Given the description of an element on the screen output the (x, y) to click on. 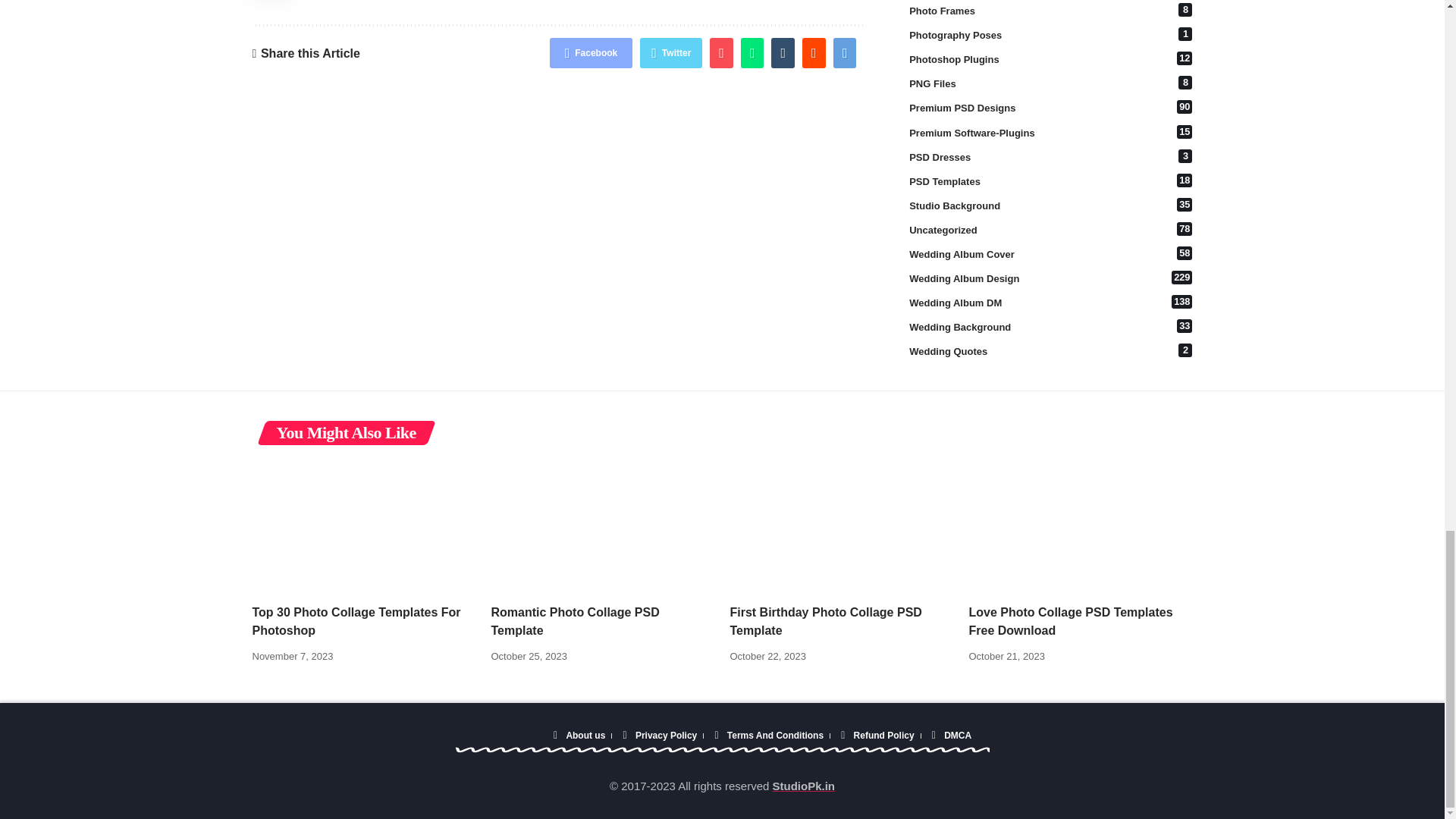
First Birthday Photo Collage PSD Template (841, 527)
Top 30 Photo Collage Templates For Photoshop (363, 527)
Love Photo Collage PSD Templates Free Download (1080, 527)
DMCA.com Protection Status (510, 735)
Romantic Photo Collage PSD Template (603, 527)
